Given the description of an element on the screen output the (x, y) to click on. 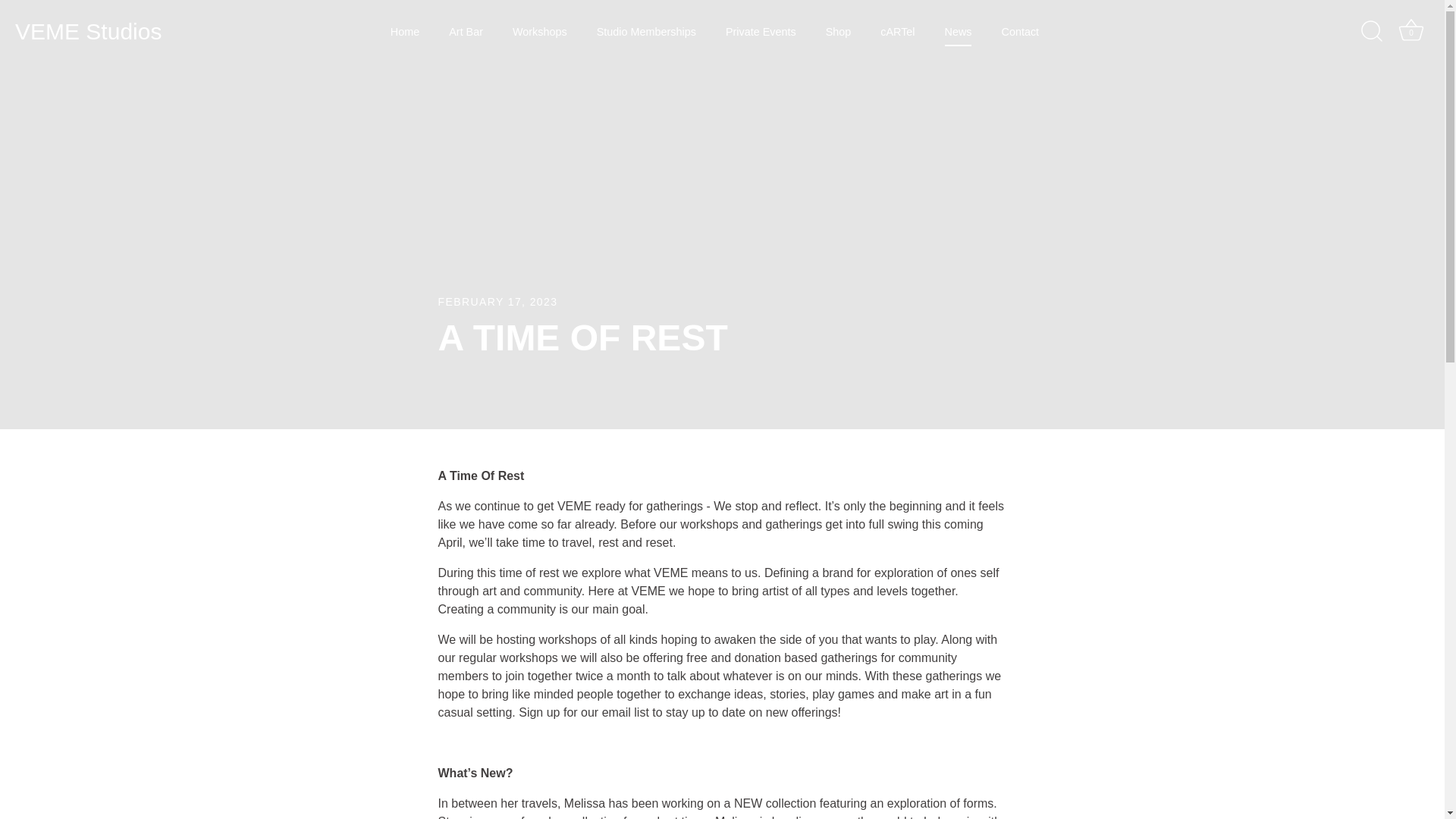
News (958, 31)
Studio Memberships (646, 31)
Workshops (539, 31)
VEME Studios (109, 31)
Basket (1410, 30)
Art Bar (465, 31)
Shop (837, 31)
cARTel (897, 31)
Contact (1019, 31)
Private Events (761, 31)
